Given the description of an element on the screen output the (x, y) to click on. 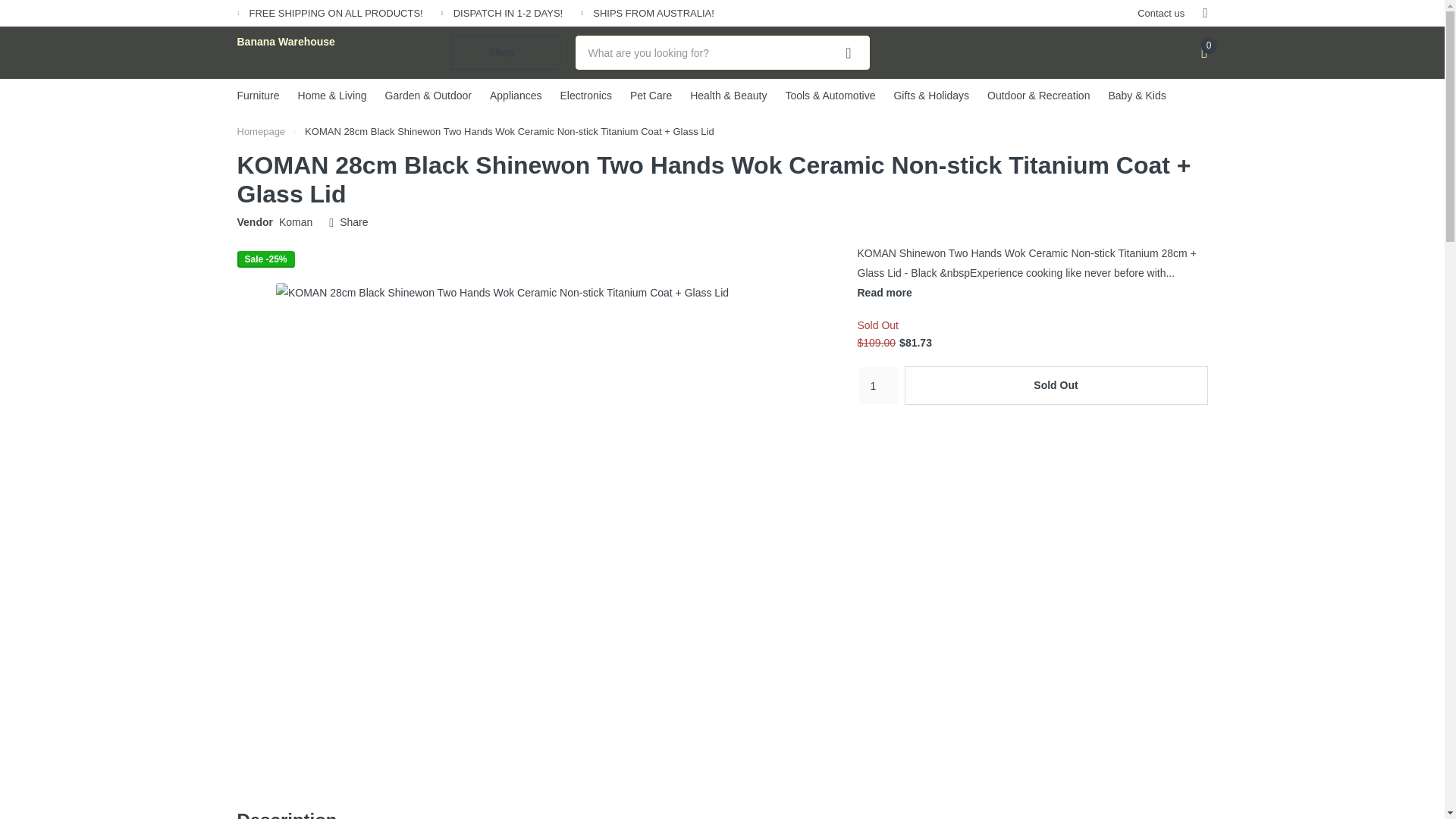
Zoeken (848, 52)
1 (877, 385)
Home (260, 131)
Shop (504, 52)
Contact us (1161, 13)
Furniture (257, 95)
